Given the description of an element on the screen output the (x, y) to click on. 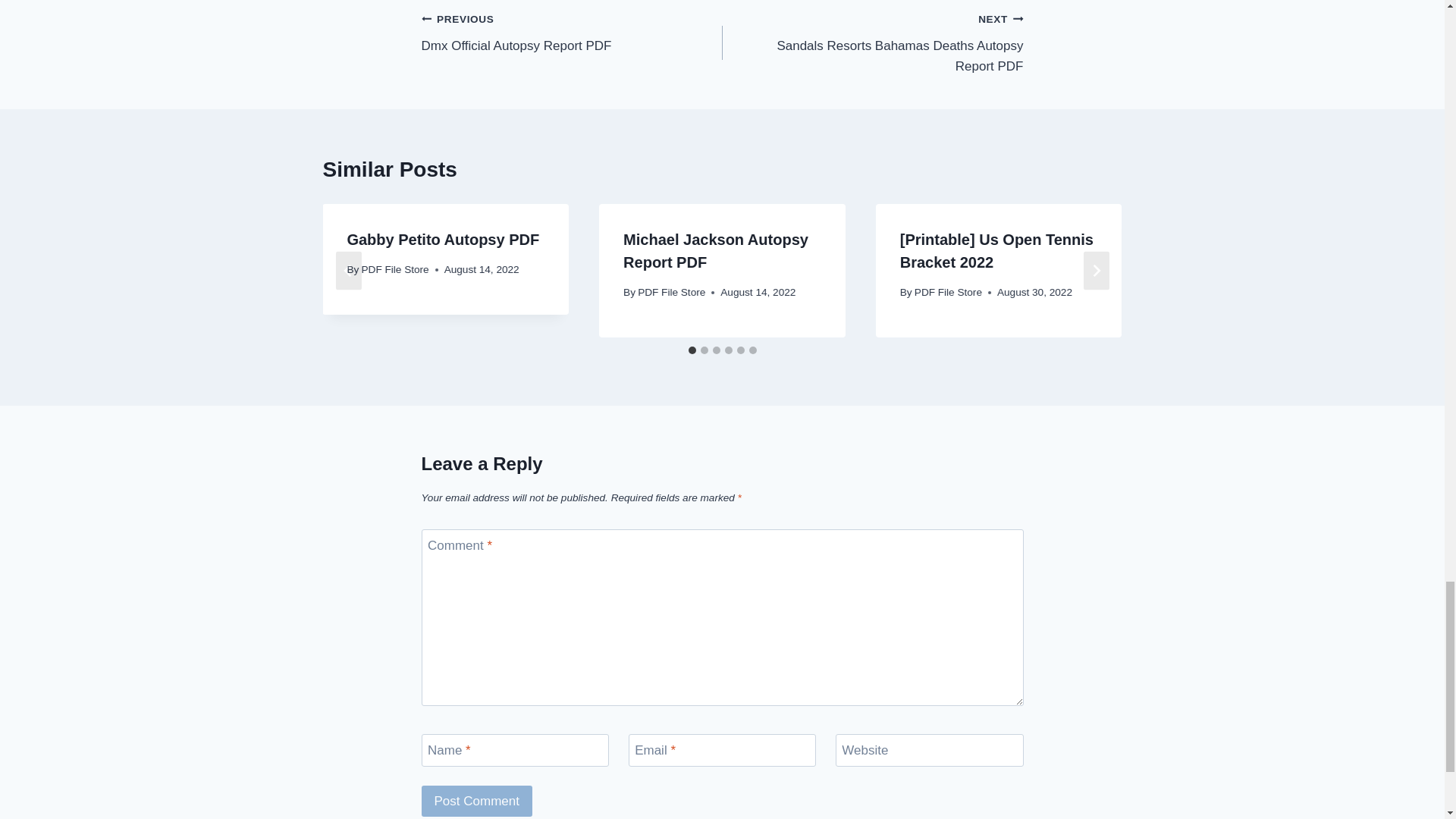
Post Comment (872, 42)
